Given the description of an element on the screen output the (x, y) to click on. 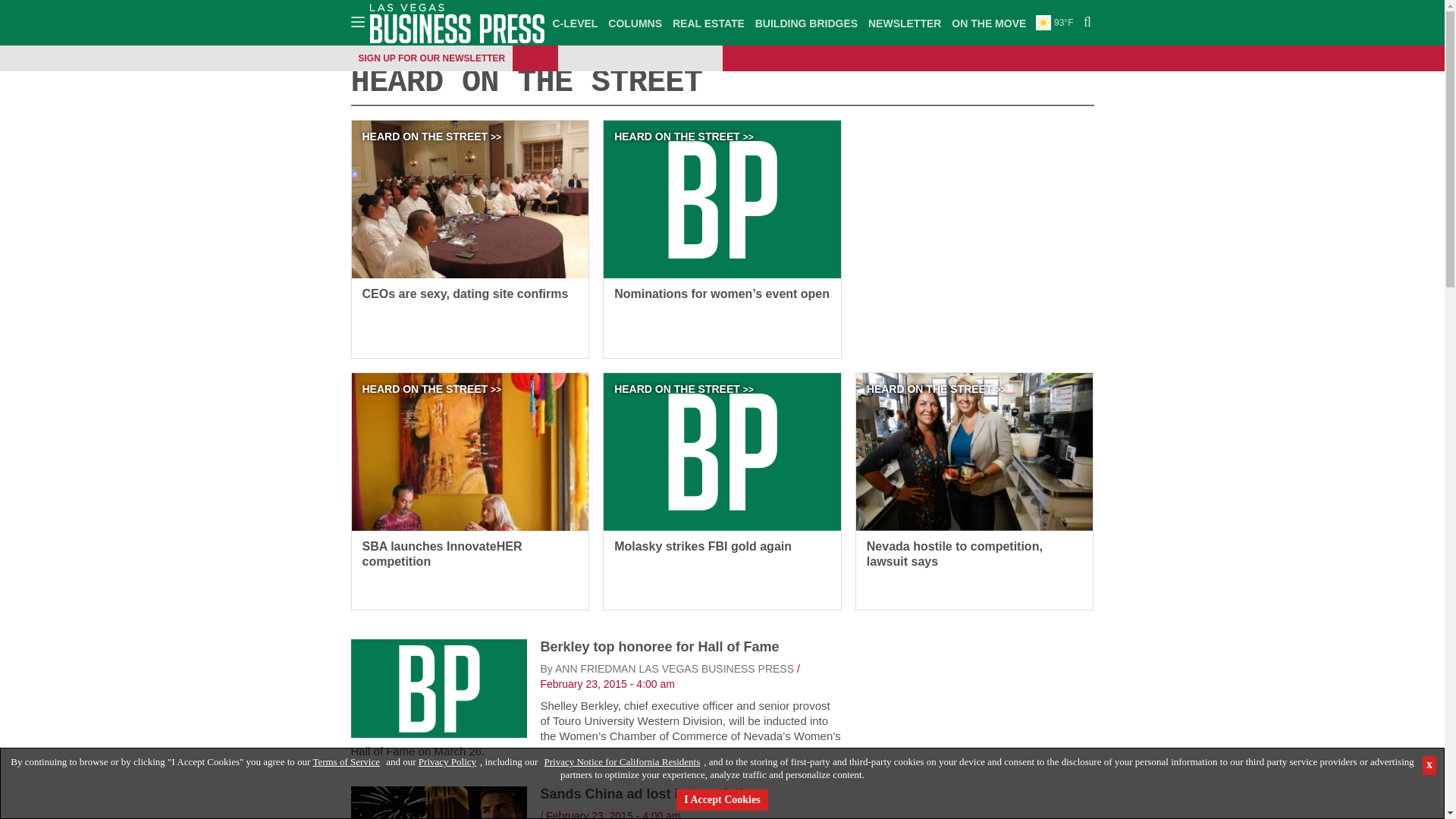
C-LEVEL (575, 22)
BUILDING BRIDGES (806, 22)
ON THE MOVE (988, 22)
Search (1085, 22)
NEWSLETTER (904, 22)
COLUMNS (634, 22)
REAL ESTATE (708, 22)
